Given the description of an element on the screen output the (x, y) to click on. 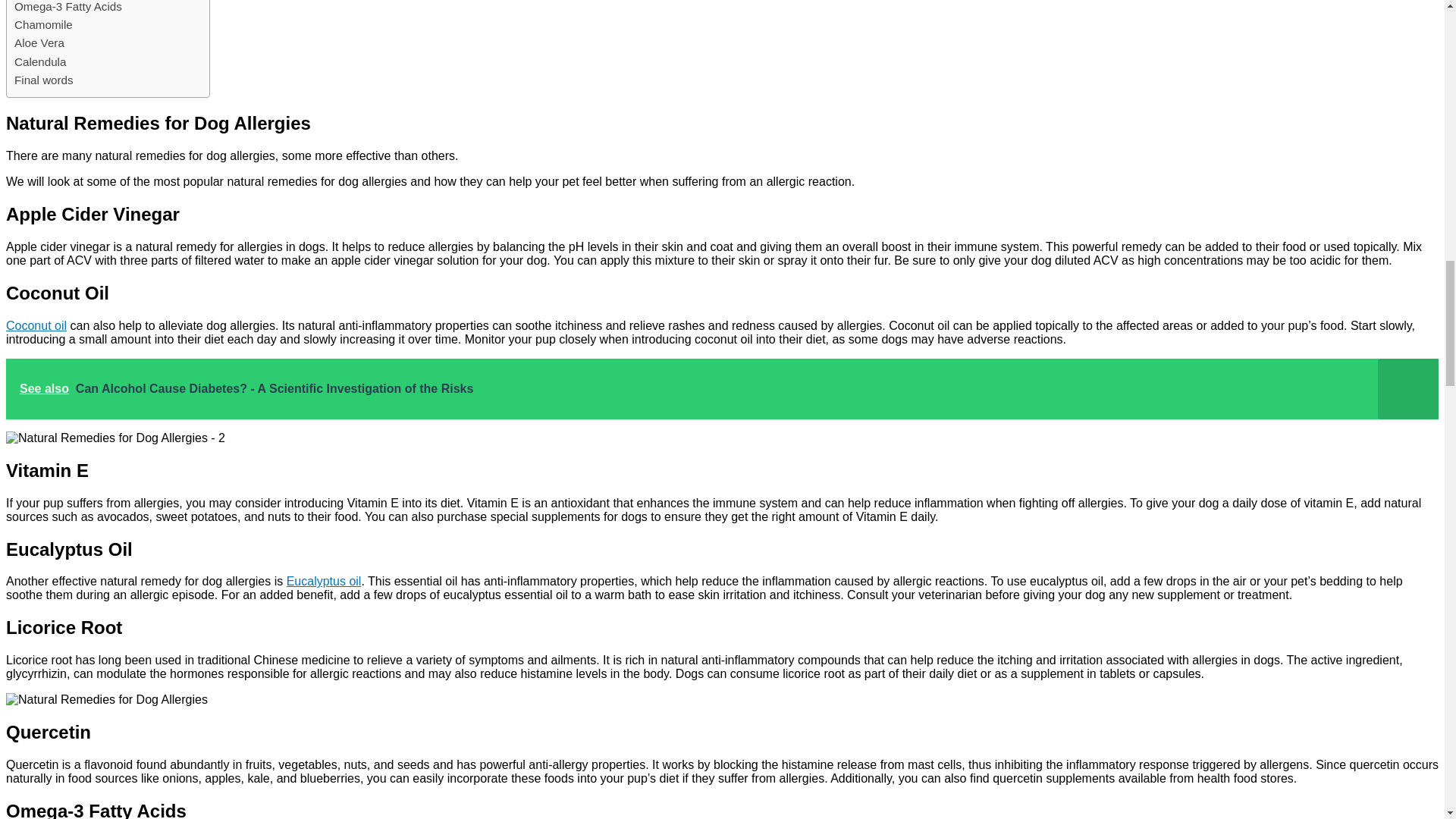
Final words (44, 80)
Chamomile (43, 24)
Omega-3 Fatty Acids (68, 7)
Aloe Vera (39, 43)
Calendula (39, 62)
